Given the description of an element on the screen output the (x, y) to click on. 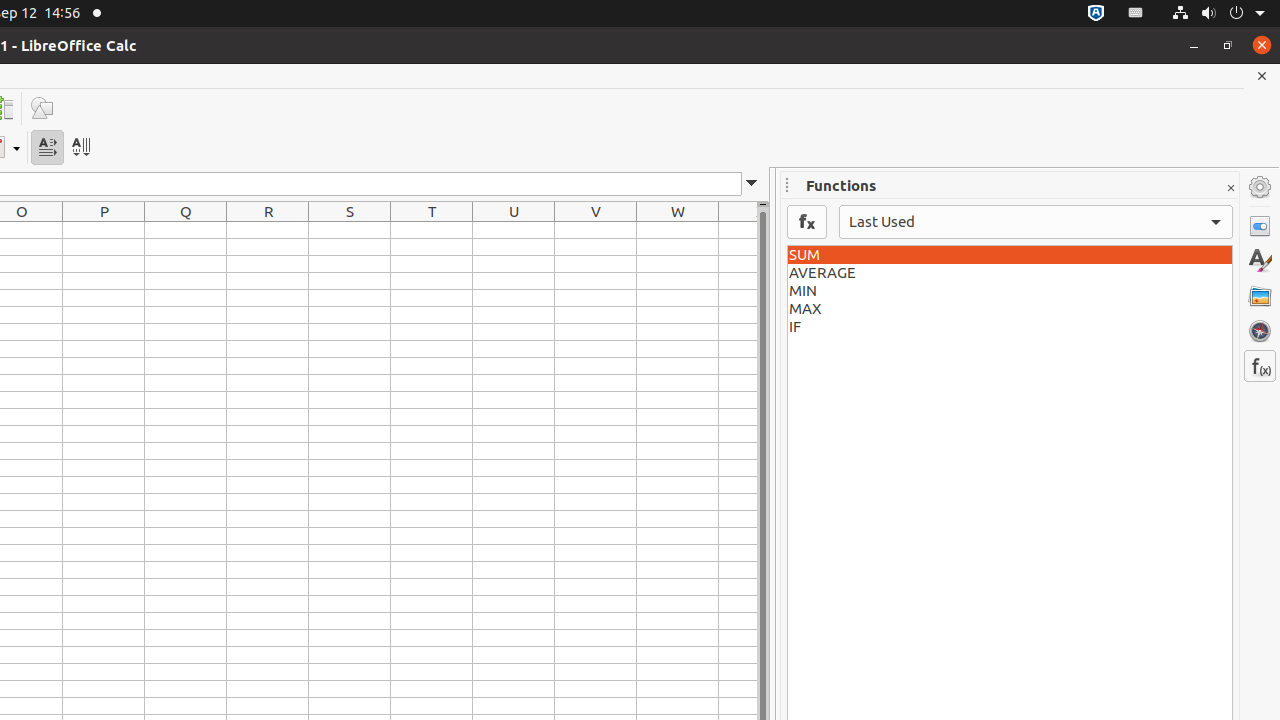
Close Sidebar Deck Element type: push-button (1230, 188)
X1 Element type: table-cell (738, 230)
V1 Element type: table-cell (596, 230)
Functions Element type: radio-button (1260, 366)
P1 Element type: table-cell (104, 230)
